Given the description of an element on the screen output the (x, y) to click on. 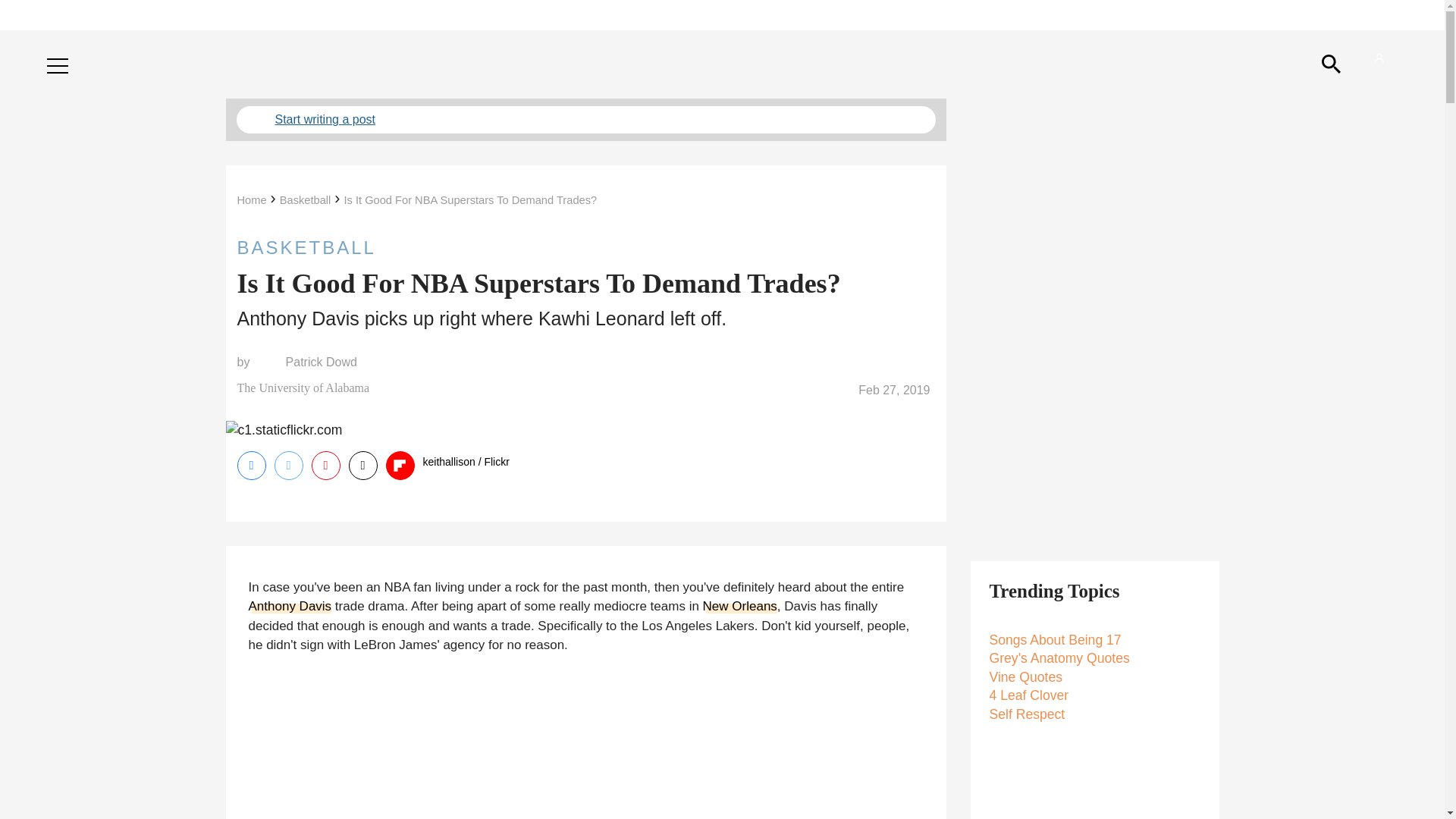
Basketball (305, 200)
Home (250, 200)
BASKETBALL (584, 248)
Start writing a post (585, 119)
Is It Good For NBA Superstars To Demand Trades? (469, 200)
Patrick Dowd (320, 362)
